Given the description of an element on the screen output the (x, y) to click on. 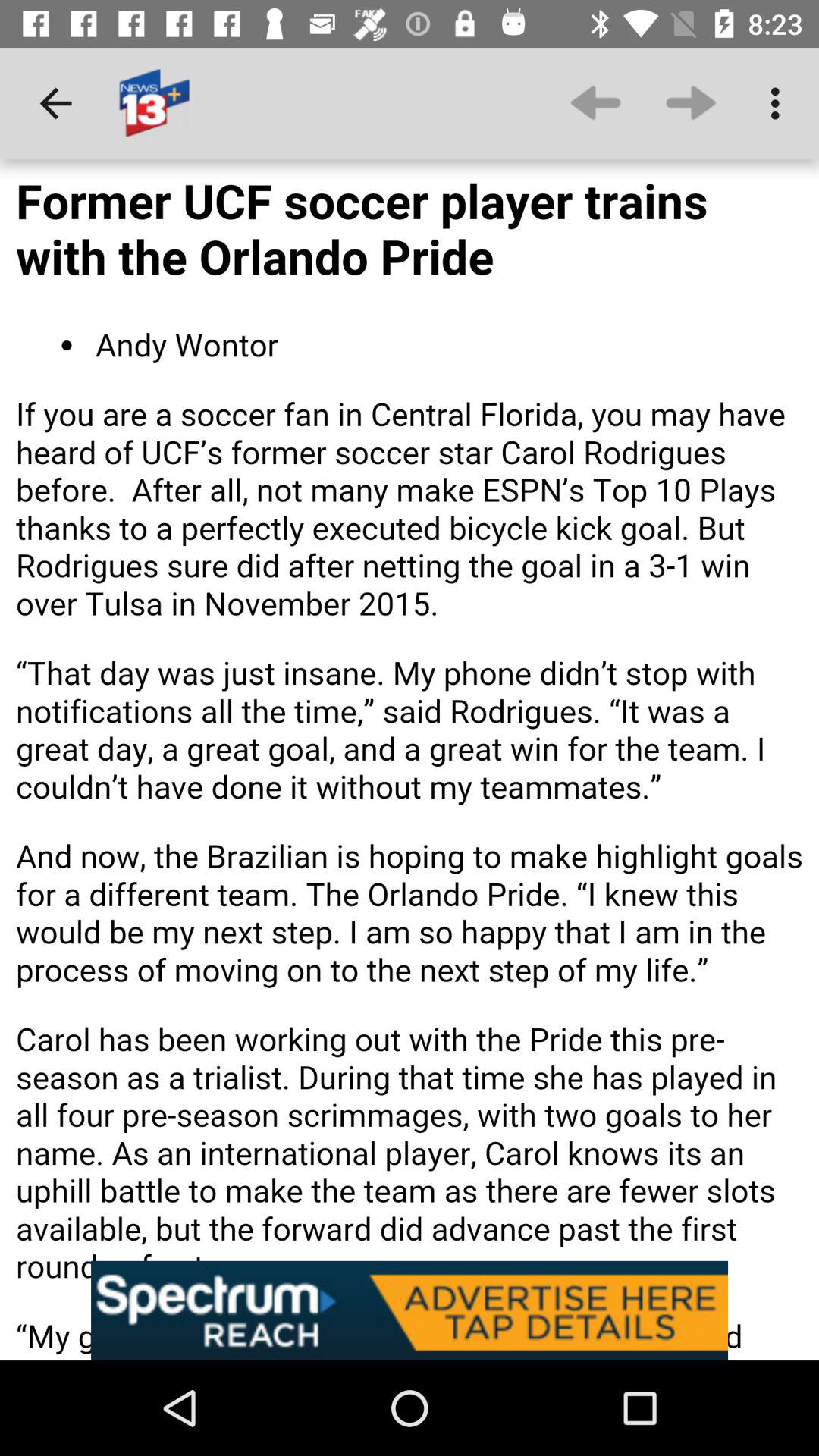
open advertisement (409, 1310)
